Given the description of an element on the screen output the (x, y) to click on. 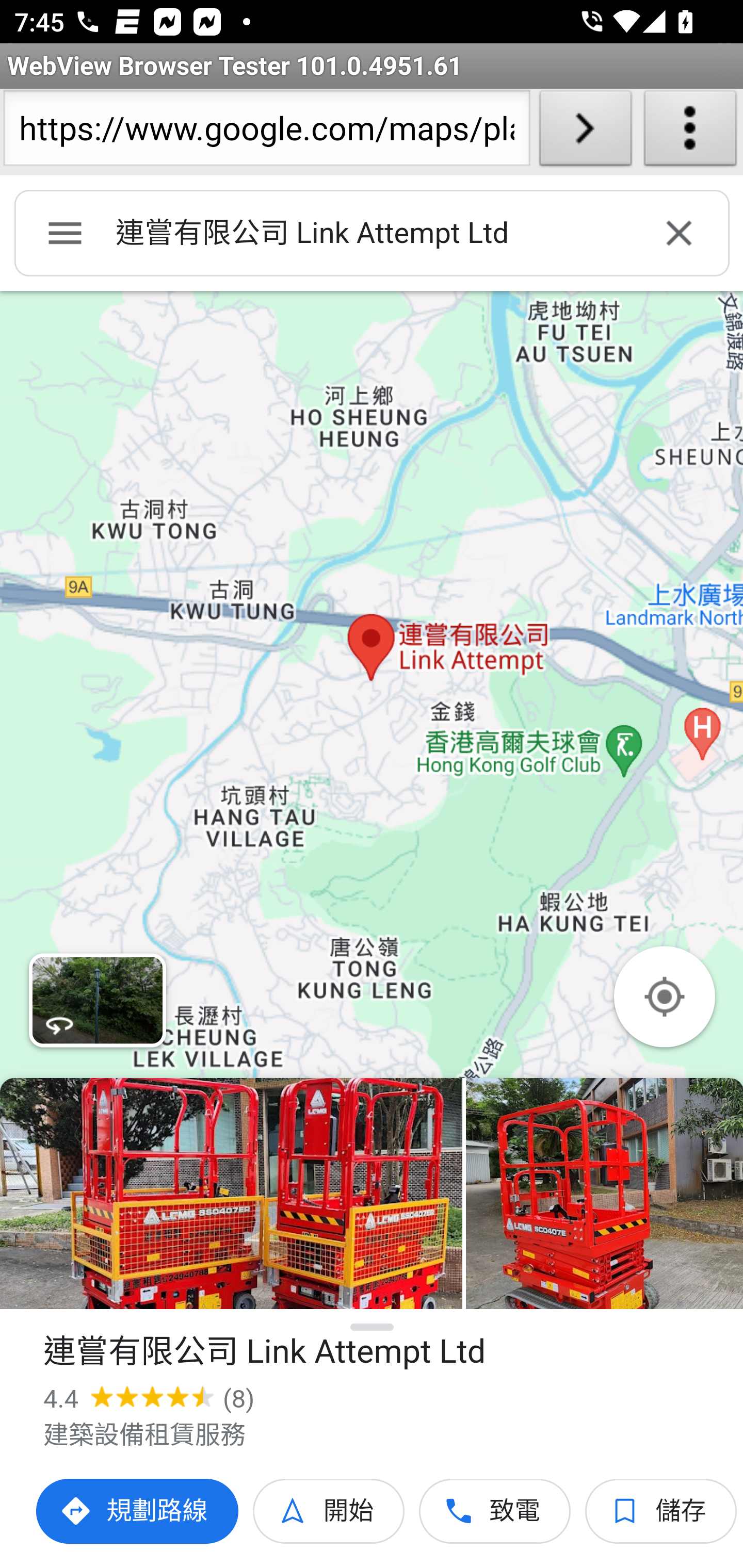
Load URL (585, 132)
About WebView (690, 132)
第 1 張相片 (共 9 張) (231, 1193)
第 2 張相片 (共 9 張) (604, 1193)
顯示詳細資料 (372, 1327)
前往連嘗有限公司 Link Attempt Ltd的路線 (137, 1511)
開始 (329, 1511)
致電「連嘗有限公司 Link Attempt Ltd」  致電 (495, 1511)
將「連嘗有限公司 Link Attempt Ltd」儲存至清單中 (661, 1511)
